Given the description of an element on the screen output the (x, y) to click on. 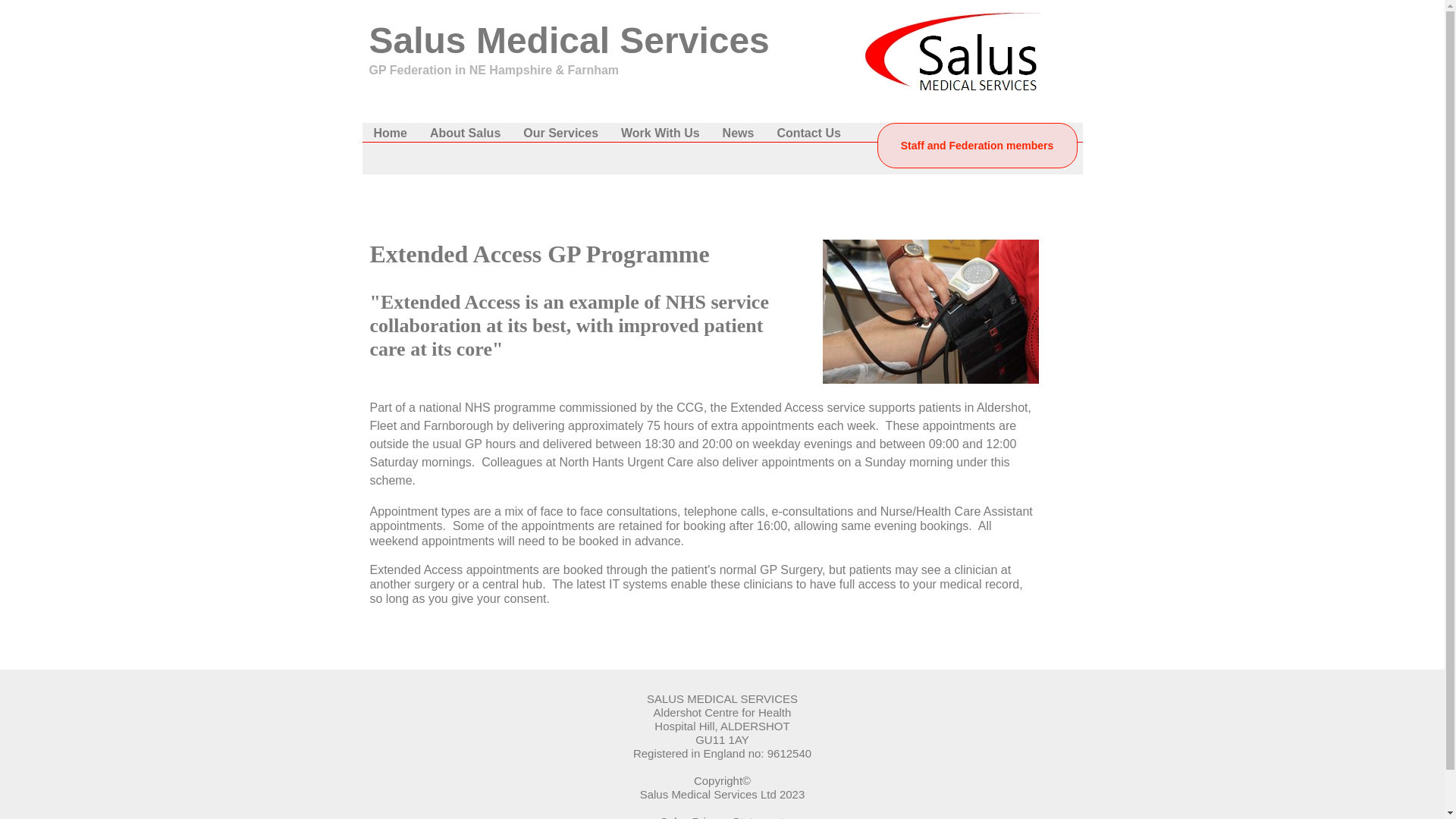
Salus Privacy Statement (722, 816)
Home (390, 133)
Contact Us (808, 133)
Work With Us (660, 133)
News (738, 133)
About Salus (465, 133)
Staff and Federation members (977, 145)
Our Services (561, 133)
